Given the description of an element on the screen output the (x, y) to click on. 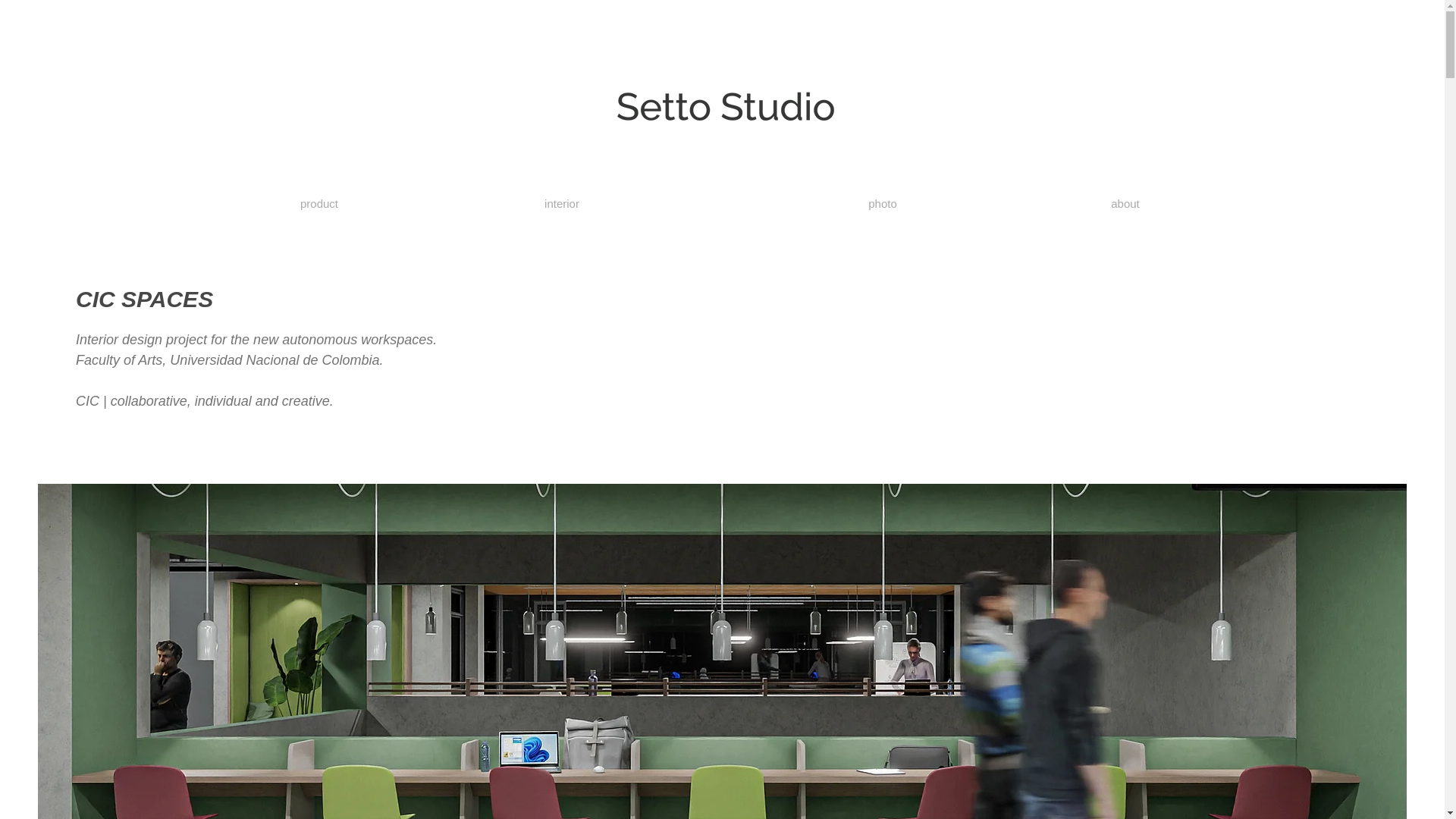
product (318, 203)
photo (882, 203)
about (1125, 203)
interior (561, 203)
